Given the description of an element on the screen output the (x, y) to click on. 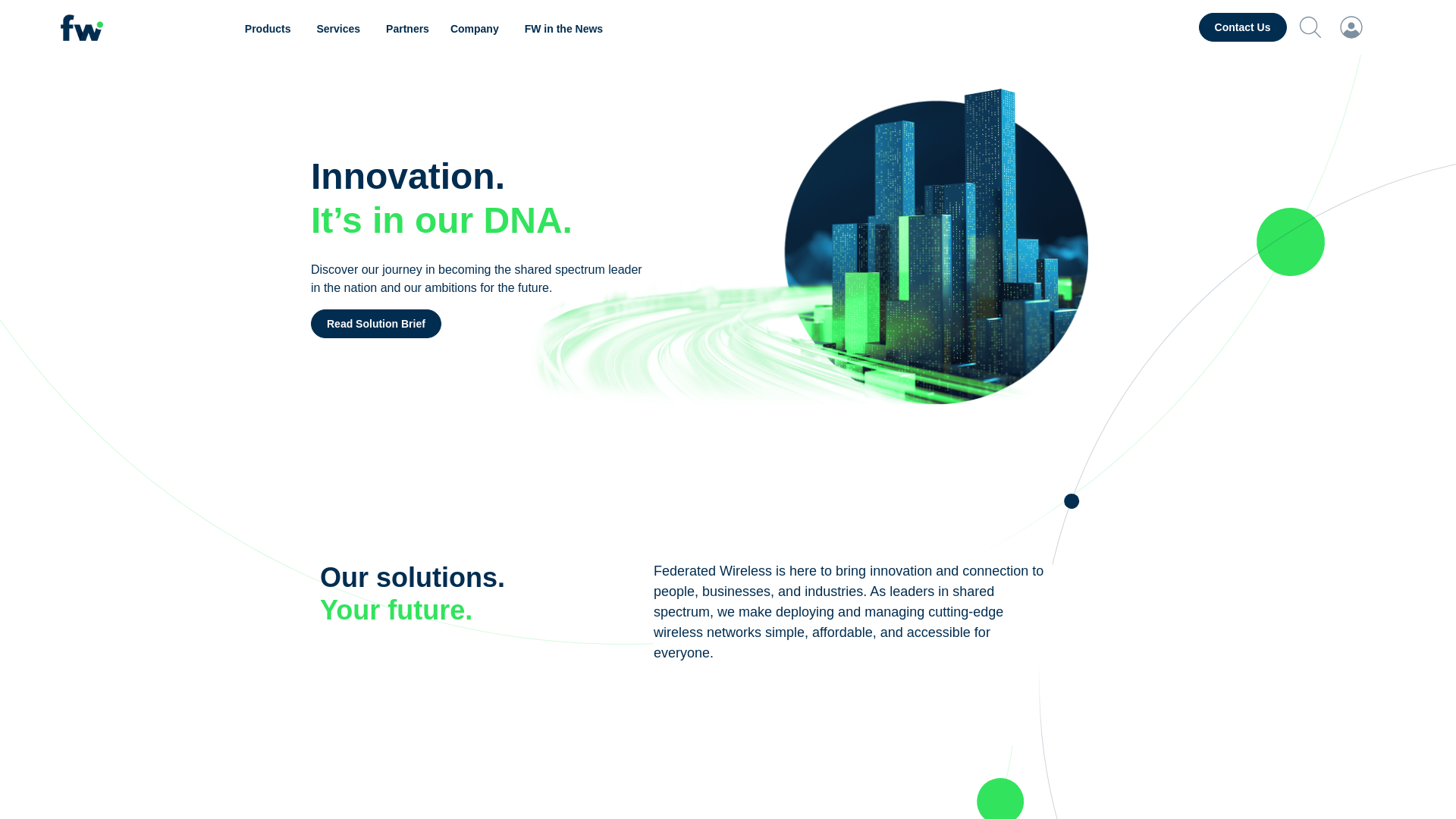
FW in the News (563, 29)
Contact Us (1242, 27)
Read Solution Brief (376, 323)
Company (476, 29)
Partners (407, 29)
Services (340, 29)
Products (269, 29)
